Given the description of an element on the screen output the (x, y) to click on. 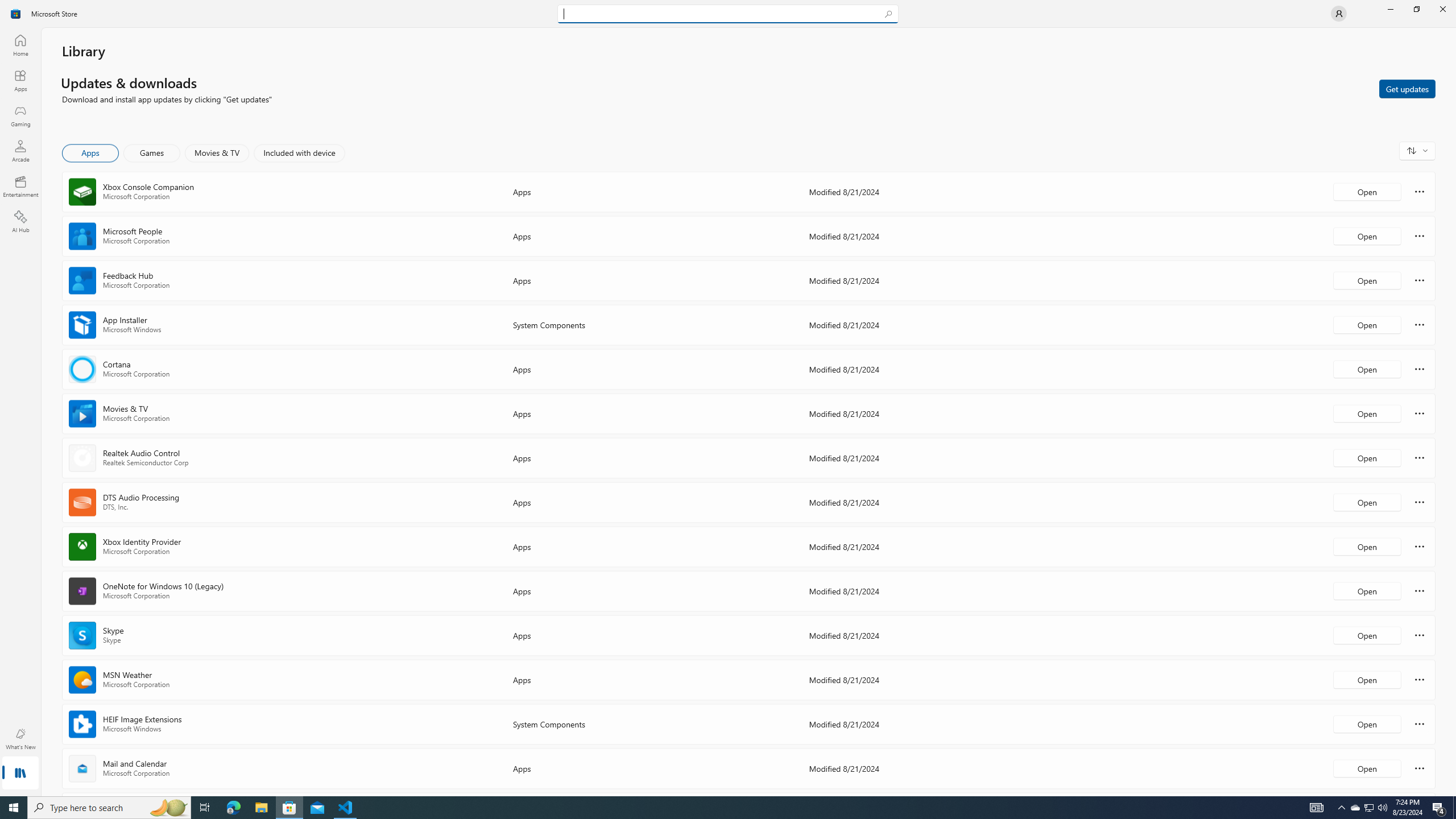
Movies & TV (216, 153)
Gaming (20, 115)
Restore Microsoft Store (1416, 9)
Get updates (1406, 88)
What's New (20, 738)
Open (1366, 768)
